Given the description of an element on the screen output the (x, y) to click on. 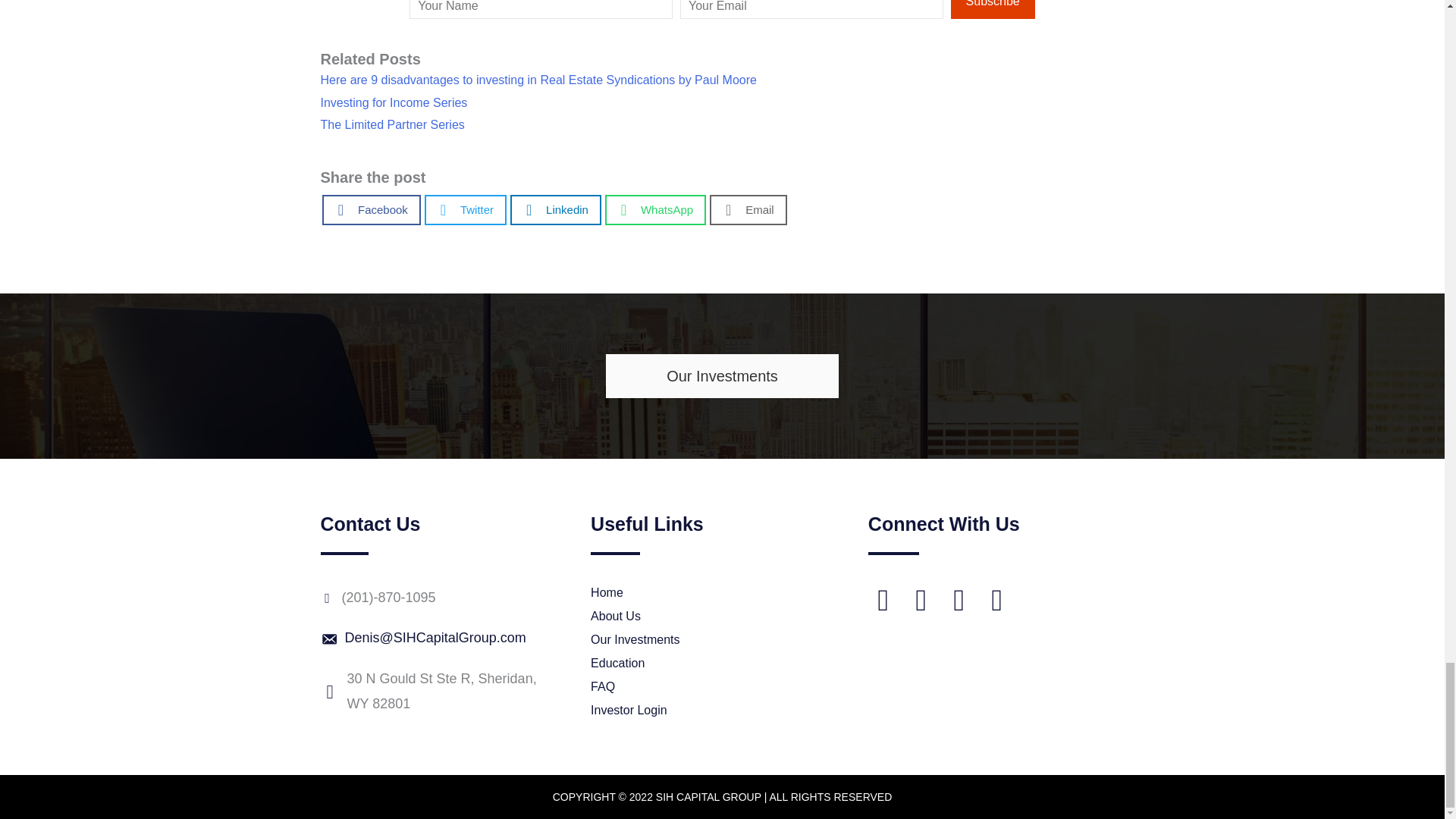
FAQ (710, 686)
Facebook (371, 209)
Email (748, 209)
About Us (710, 616)
WhatsApp (655, 209)
Our Investments (721, 375)
Subscribe (992, 9)
Education (710, 662)
The Limited Partner Series (392, 124)
Click Here (992, 9)
